Given the description of an element on the screen output the (x, y) to click on. 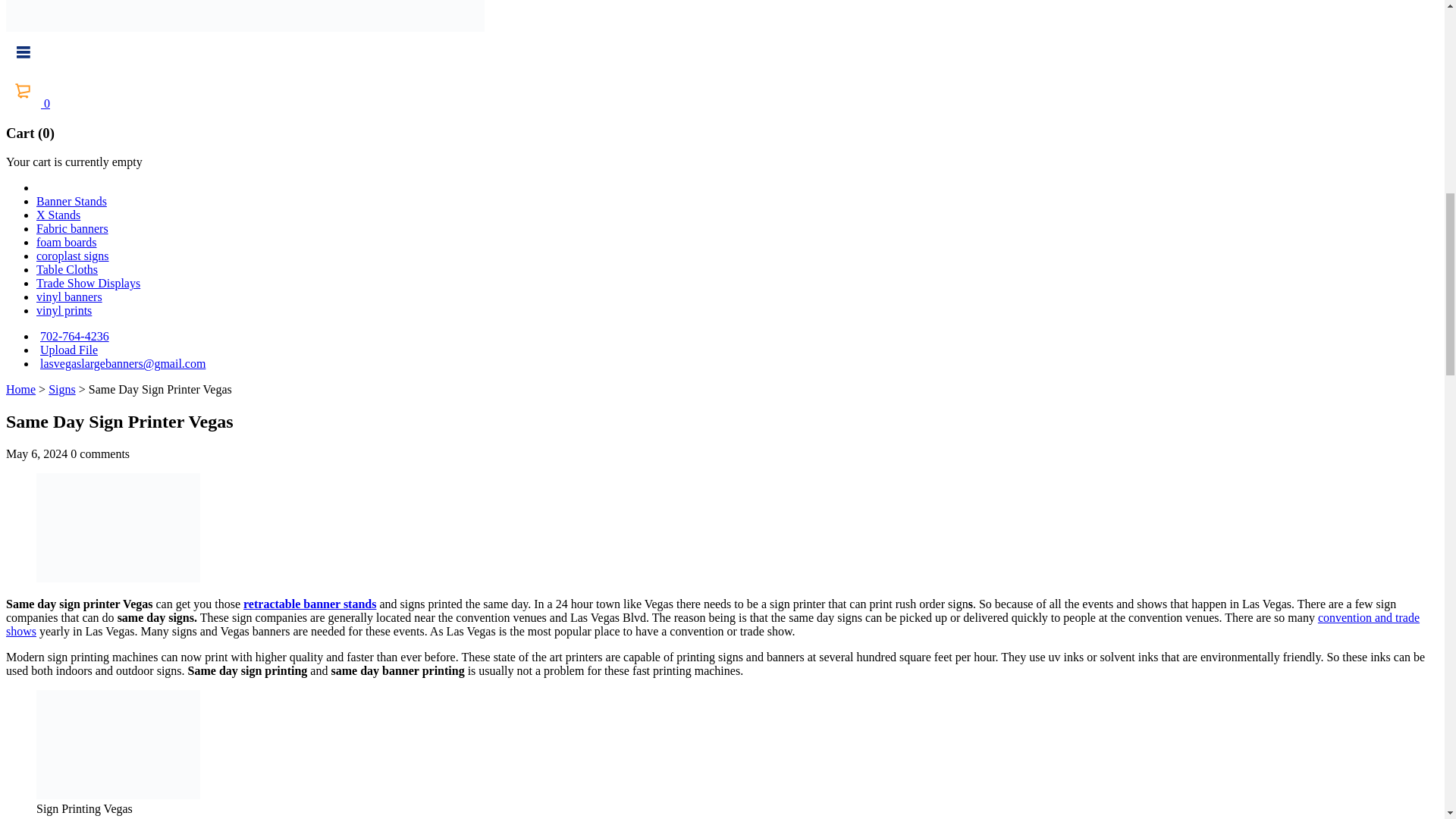
X Stands (58, 214)
702-764-4236 (72, 336)
Upload File (66, 349)
Las Vegas Large Banners (244, 15)
foam boards (66, 241)
Signs (61, 389)
Fabric banners (71, 228)
convention and trade shows (712, 624)
Trade Show Displays (87, 282)
Home (19, 389)
Table Cloths (66, 269)
retractable banner stands (309, 603)
coroplast signs (72, 255)
View your shopping cart (27, 103)
vinyl banners (68, 296)
